Given the description of an element on the screen output the (x, y) to click on. 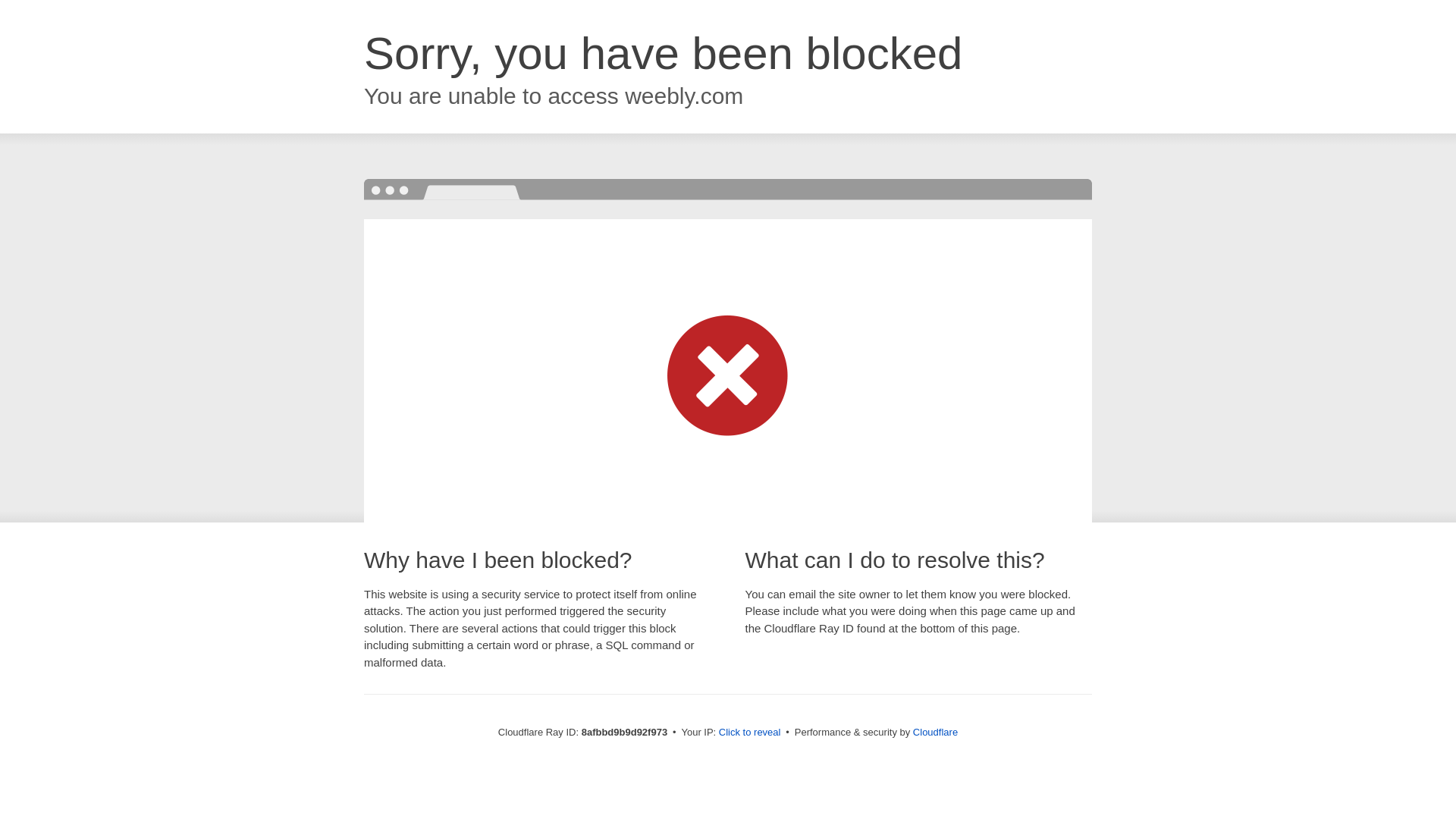
Cloudflare (935, 731)
Click to reveal (749, 732)
